Given the description of an element on the screen output the (x, y) to click on. 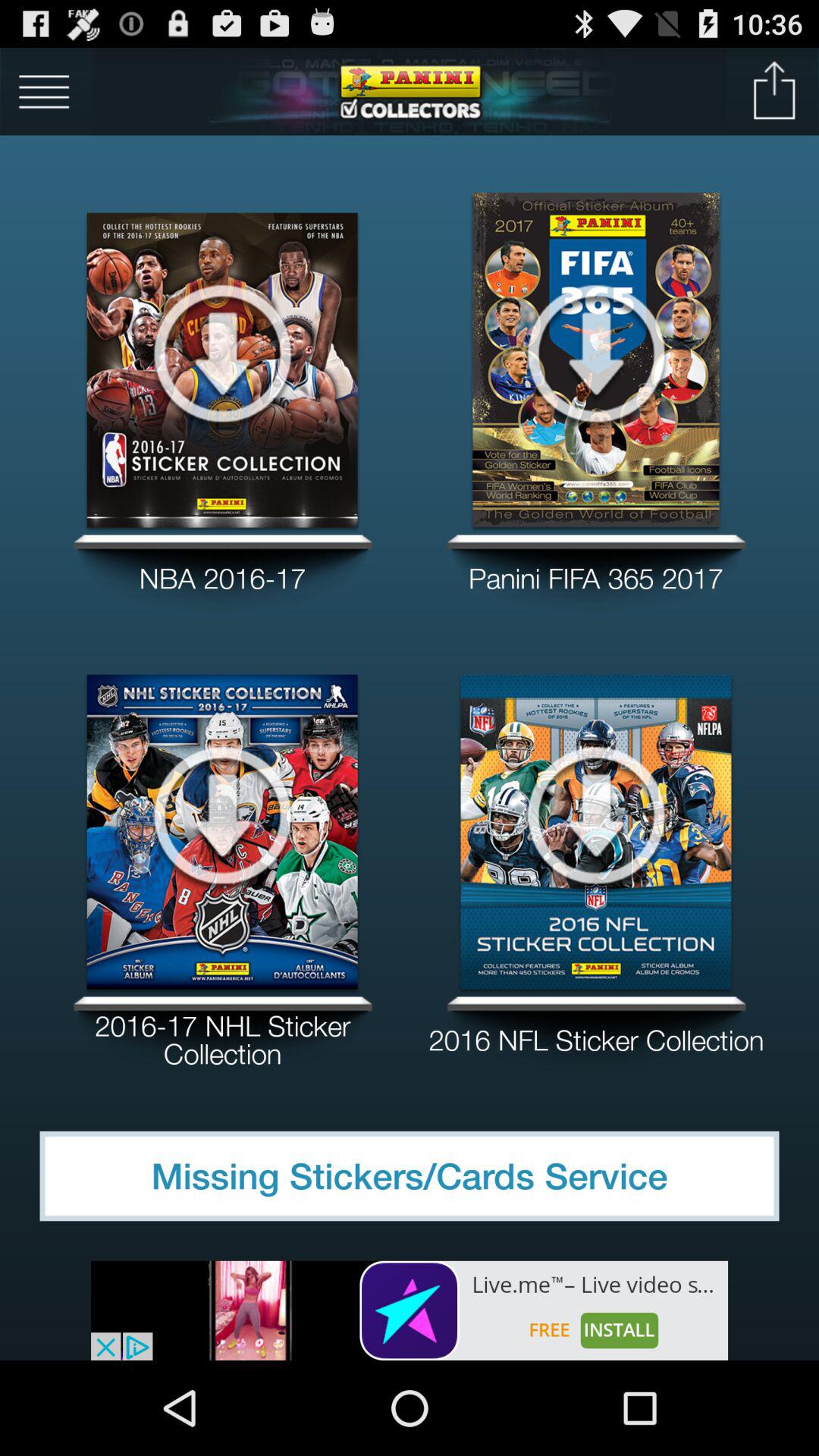
click on 201617 nhl sticker collection (222, 1034)
select second image second row down arrow (595, 813)
click the download option bottom left corner of page (222, 813)
select the third image (223, 813)
click on header (409, 91)
click on the main menu (179, 83)
